Given the description of an element on the screen output the (x, y) to click on. 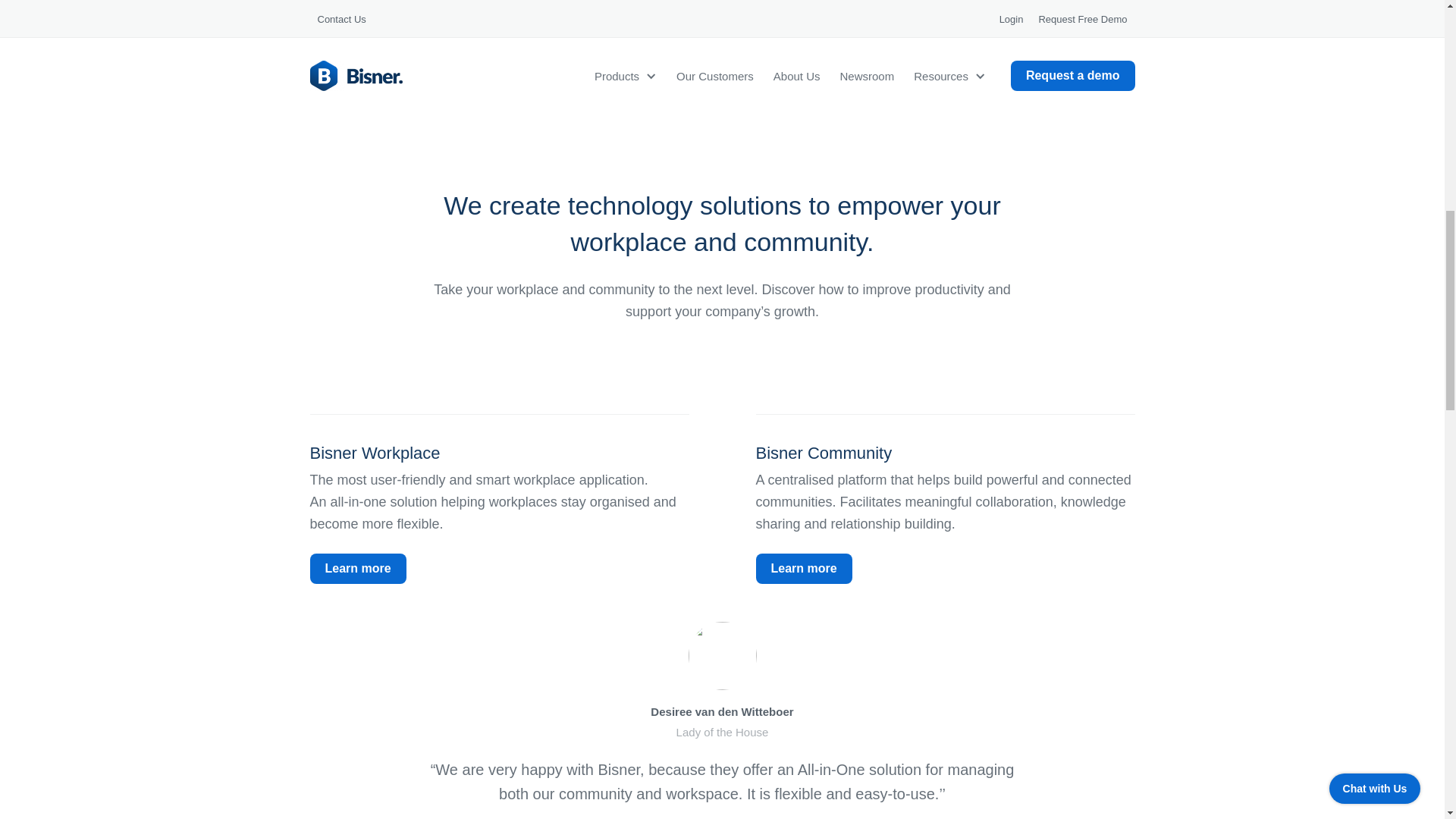
Learn more (803, 568)
Learn more (357, 568)
